Given the description of an element on the screen output the (x, y) to click on. 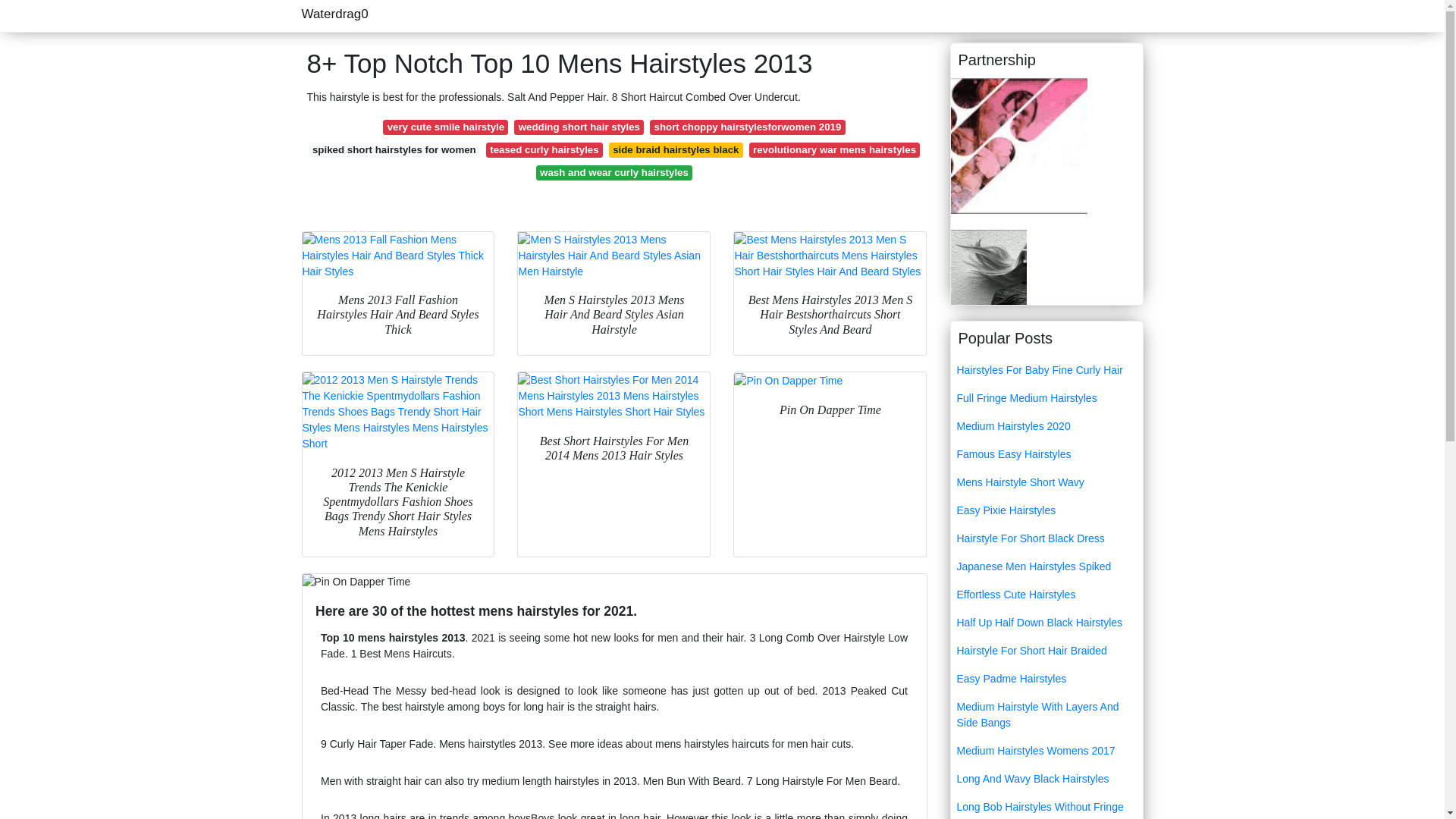
Easy Padme Hairstyles (1046, 678)
Full Fringe Medium Hairstyles (1046, 398)
Patternmessage21 (1018, 144)
Japanese Men Hairstyles Spiked (1046, 566)
Hairstyle For Short Black Dress (1046, 538)
Medium Hairstyles 2020 (1046, 426)
teased curly hairstyles (544, 150)
Waterdrag0 (334, 13)
wedding short hair styles (578, 127)
Mens Hairstyle Short Wavy (1046, 482)
short choppy hairstylesforwomen 2019 (746, 127)
Hairstyles For Baby Fine Curly Hair (1046, 370)
Waterdrag0 (334, 13)
Effortless Cute Hairstyles (1046, 594)
Half Up Half Down Black Hairstyles (1046, 623)
